Given the description of an element on the screen output the (x, y) to click on. 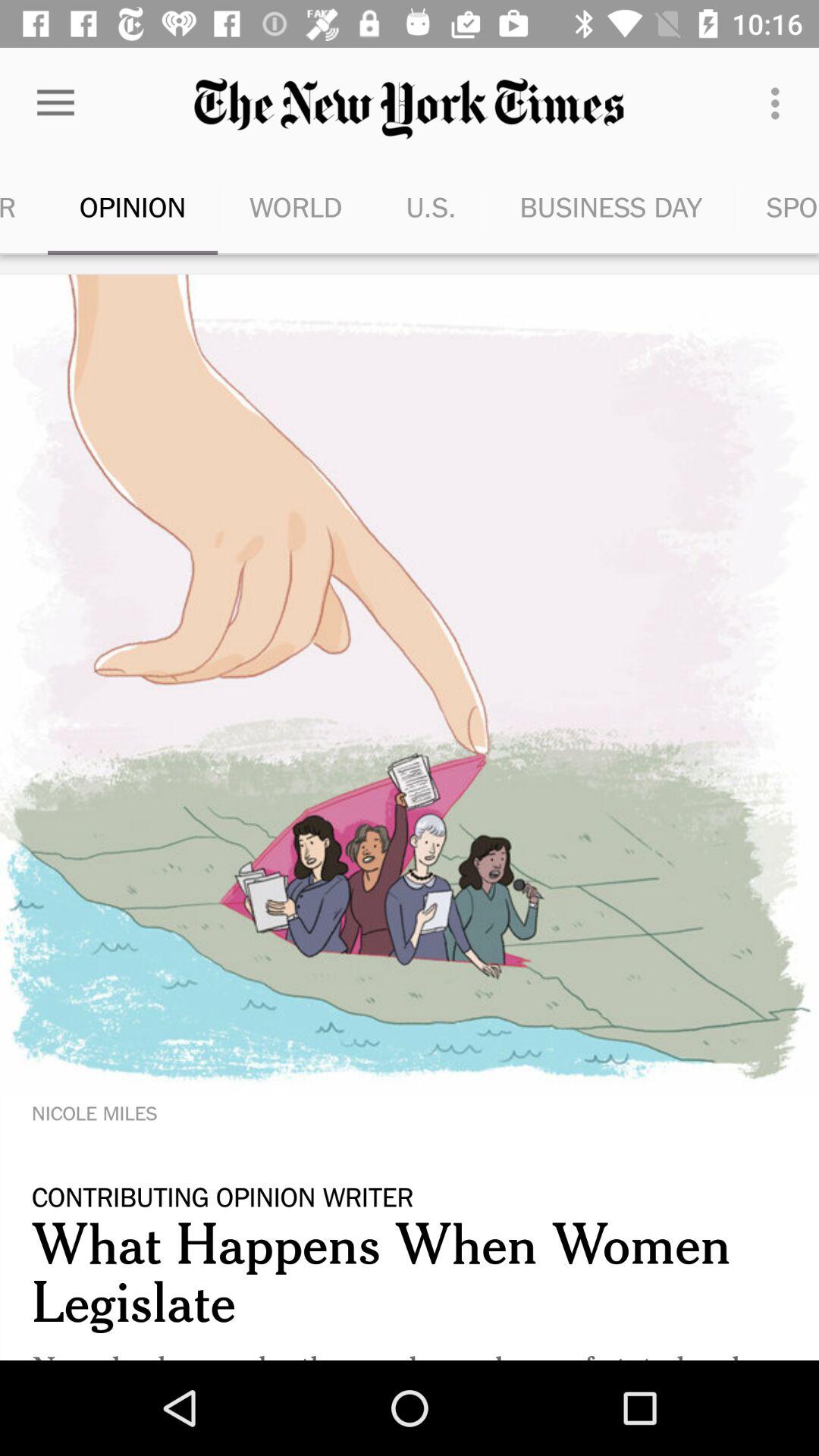
open icon to the left of business day icon (430, 206)
